Given the description of an element on the screen output the (x, y) to click on. 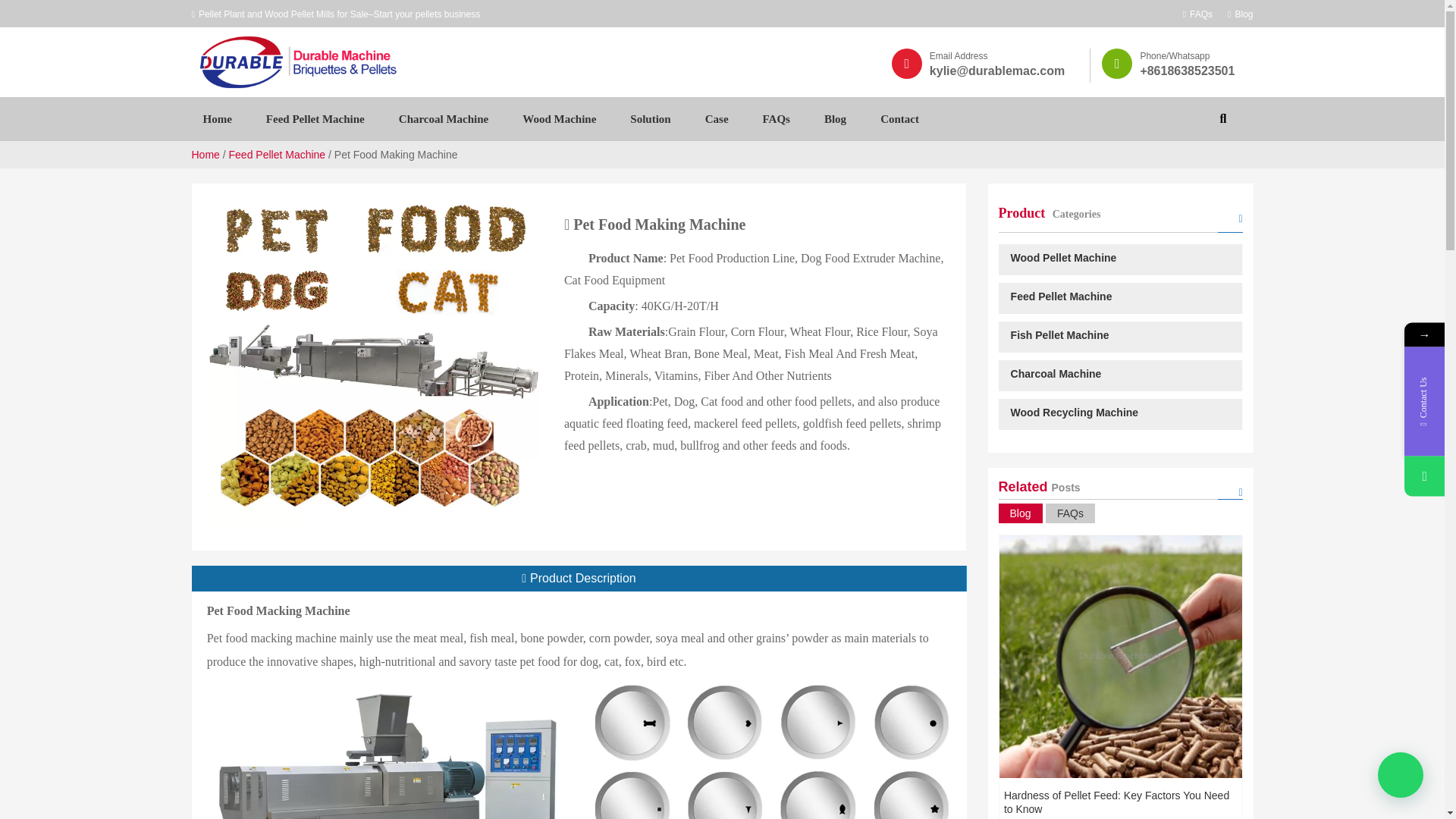
Home (204, 154)
FAQs (1197, 14)
Hardness of Pellet Feed: Key Factors You Need t... (1119, 656)
Charcoal Machine (442, 118)
Feed Pellet Machine (277, 154)
Wood Pellet Machine (1119, 259)
Wood Machine (558, 118)
Charcoal Machine (1119, 375)
FAQs (1069, 513)
Hardness of Pellet Feed: Key Factors You Need to Know (1116, 801)
Wood Recycling Machine (1119, 413)
Fish Pellet Machine (1119, 336)
Feed Pellet Machine (1119, 297)
Blog (1019, 513)
Solution (649, 118)
